Given the description of an element on the screen output the (x, y) to click on. 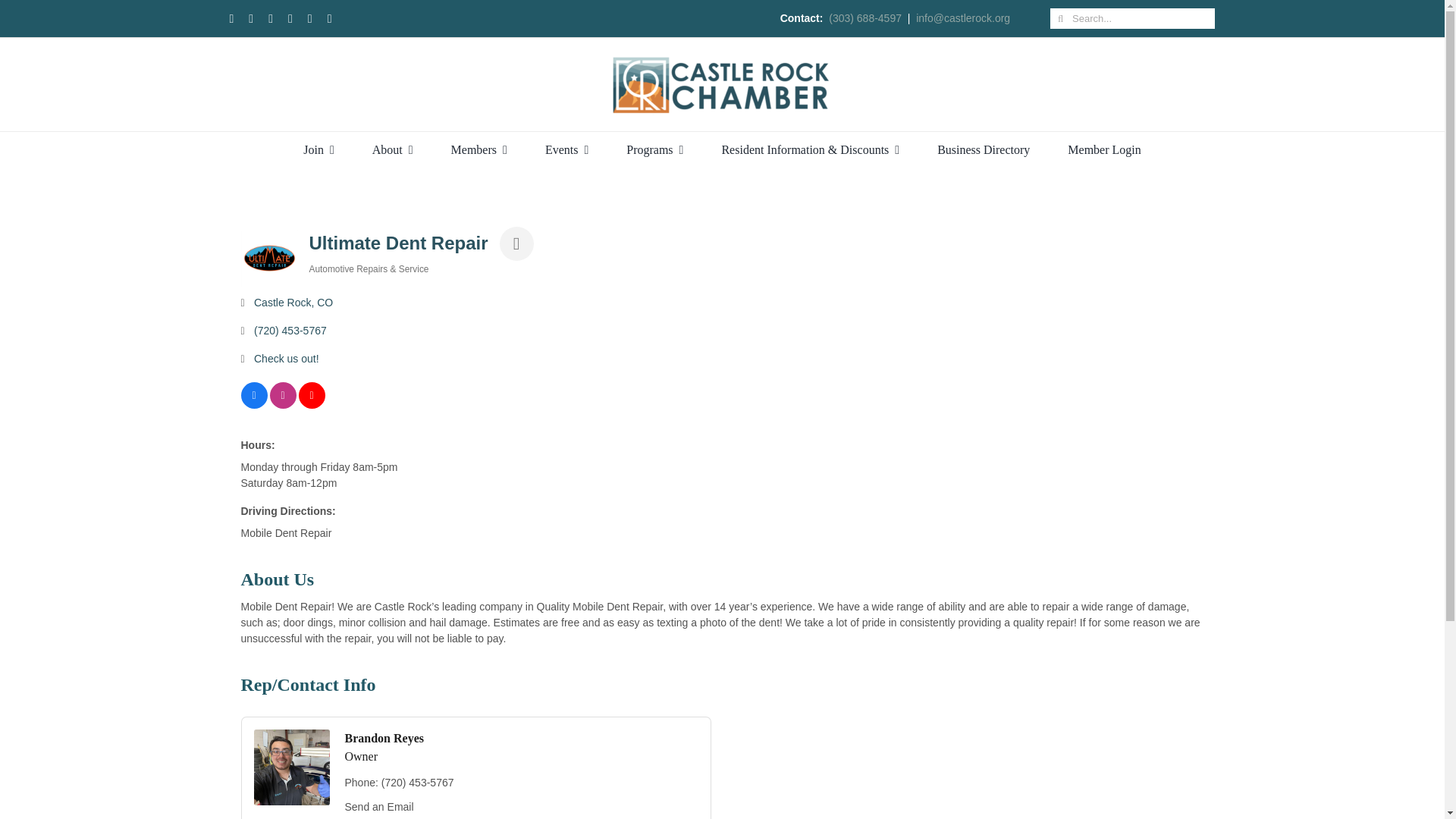
View on Facebook (254, 404)
View on Instagram (283, 404)
View on Youtube (311, 404)
Ultimate Dent Repair (269, 257)
